Given the description of an element on the screen output the (x, y) to click on. 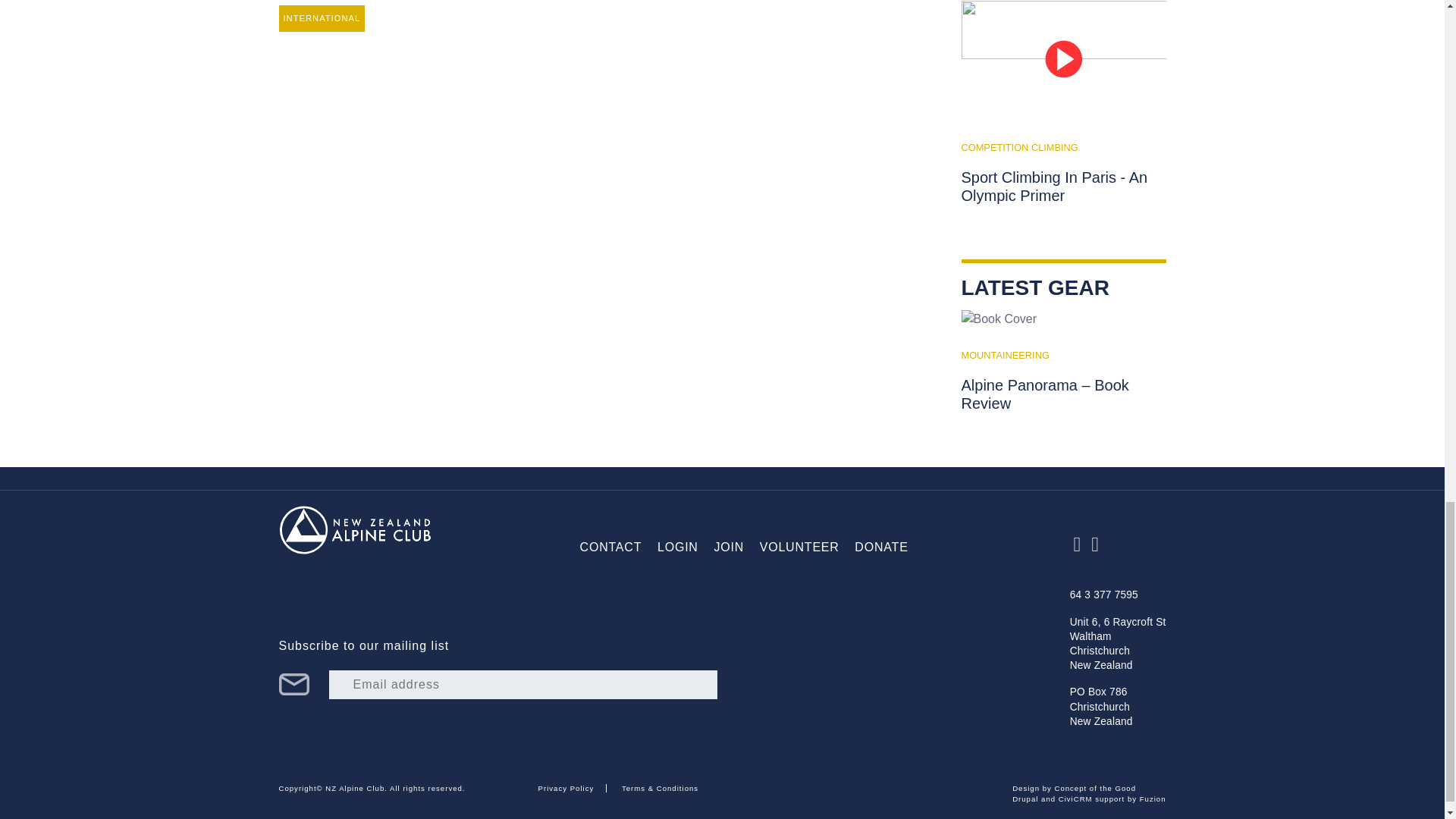
Alpine Panorama (998, 319)
Subscribe (293, 684)
